Given the description of an element on the screen output the (x, y) to click on. 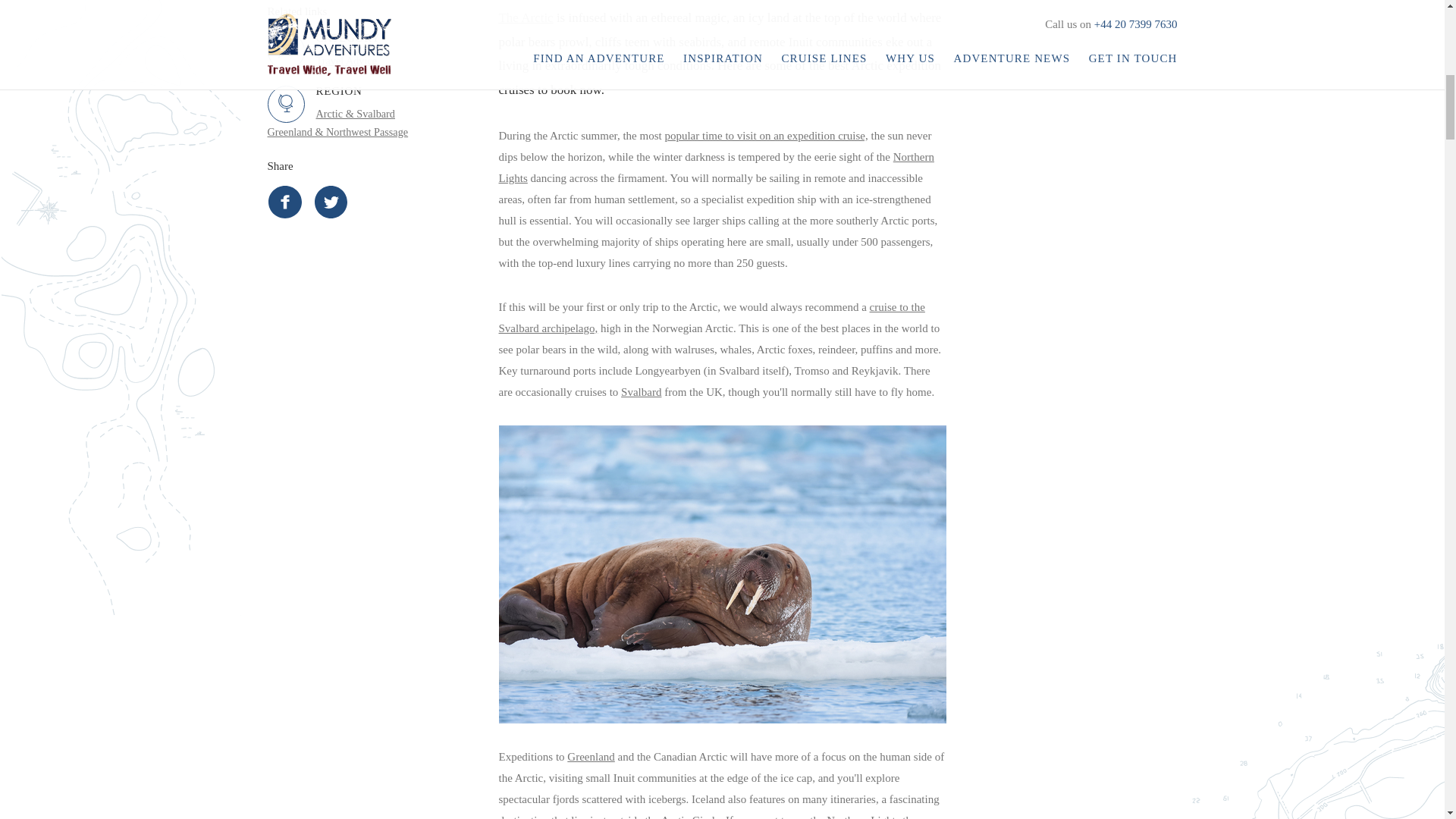
Svalbard (641, 391)
The Arctic (526, 17)
Greenland (590, 756)
Northern Lights (716, 167)
Share on Twitter (330, 202)
cruise to the Svalbard archipelago, (711, 317)
see the Northern Lights (845, 816)
popular time to visit on an expedition cruise, (765, 135)
Travel Advice (374, 56)
Share on Facebook (283, 202)
